Given the description of an element on the screen output the (x, y) to click on. 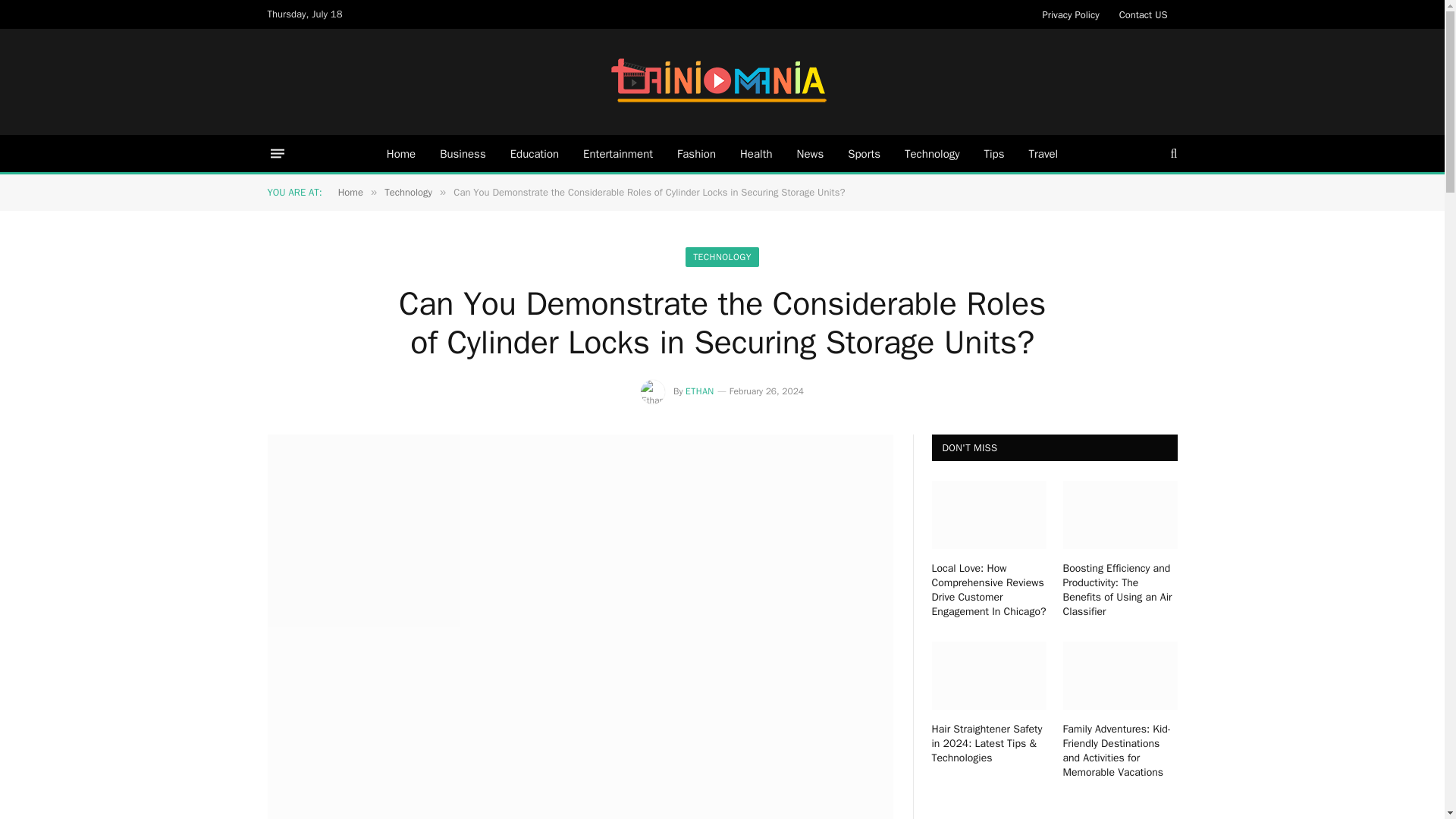
Entertainment (617, 153)
Technology (932, 153)
News (809, 153)
Fashion (696, 153)
Sports (863, 153)
Business (462, 153)
Contact US (1143, 14)
Privacy Policy (1070, 14)
Tainiomania (722, 82)
Travel (1043, 153)
Home (401, 153)
Health (756, 153)
ETHAN (699, 390)
Education (533, 153)
